Given the description of an element on the screen output the (x, y) to click on. 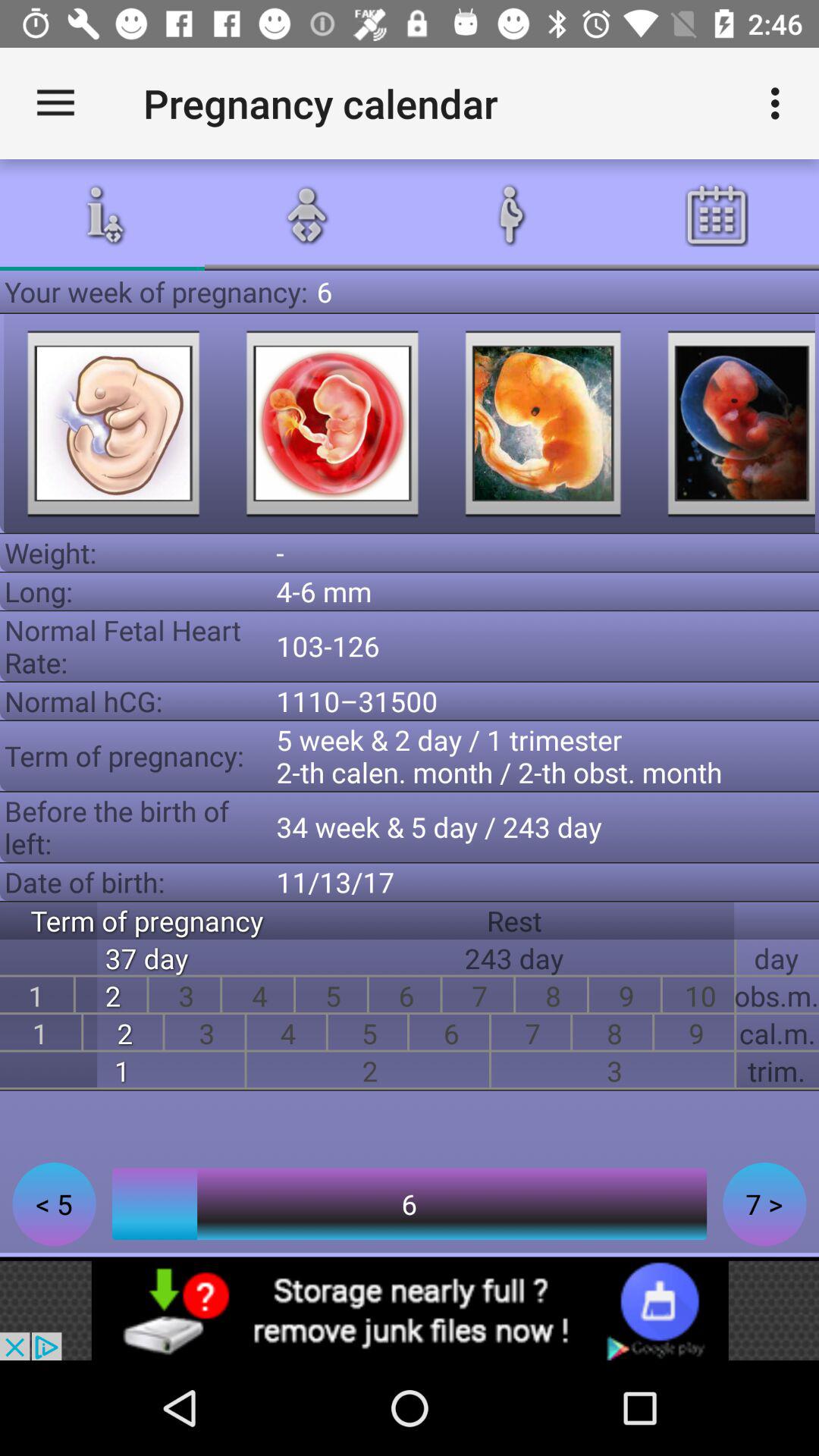
advertisement page (409, 1310)
